Given the description of an element on the screen output the (x, y) to click on. 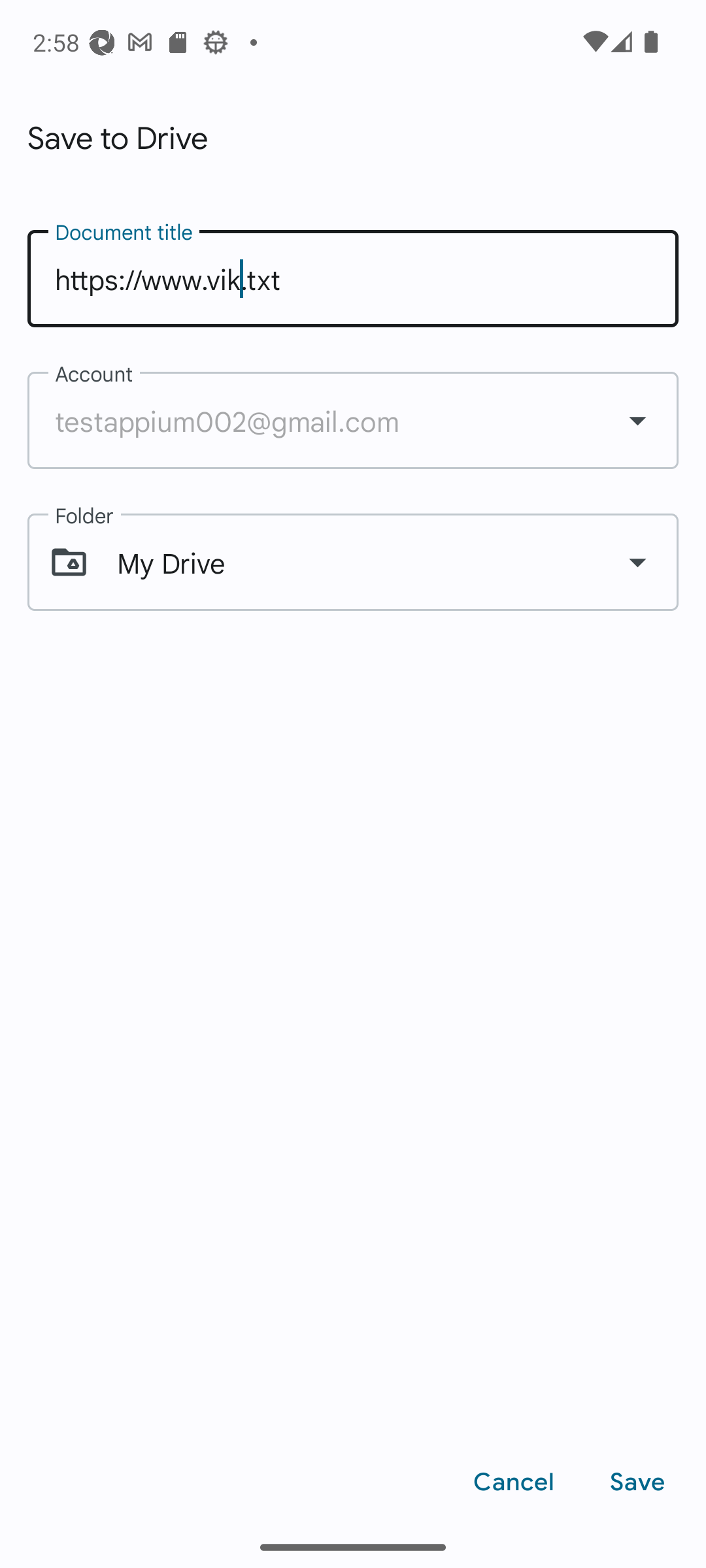
https://www.vik.txt (352, 278)
Show dropdown menu (636, 419)
My Drive My Drive. Click to change. (352, 562)
Show dropdown menu (636, 561)
Cancel (513, 1482)
Save (637, 1482)
